Given the description of an element on the screen output the (x, y) to click on. 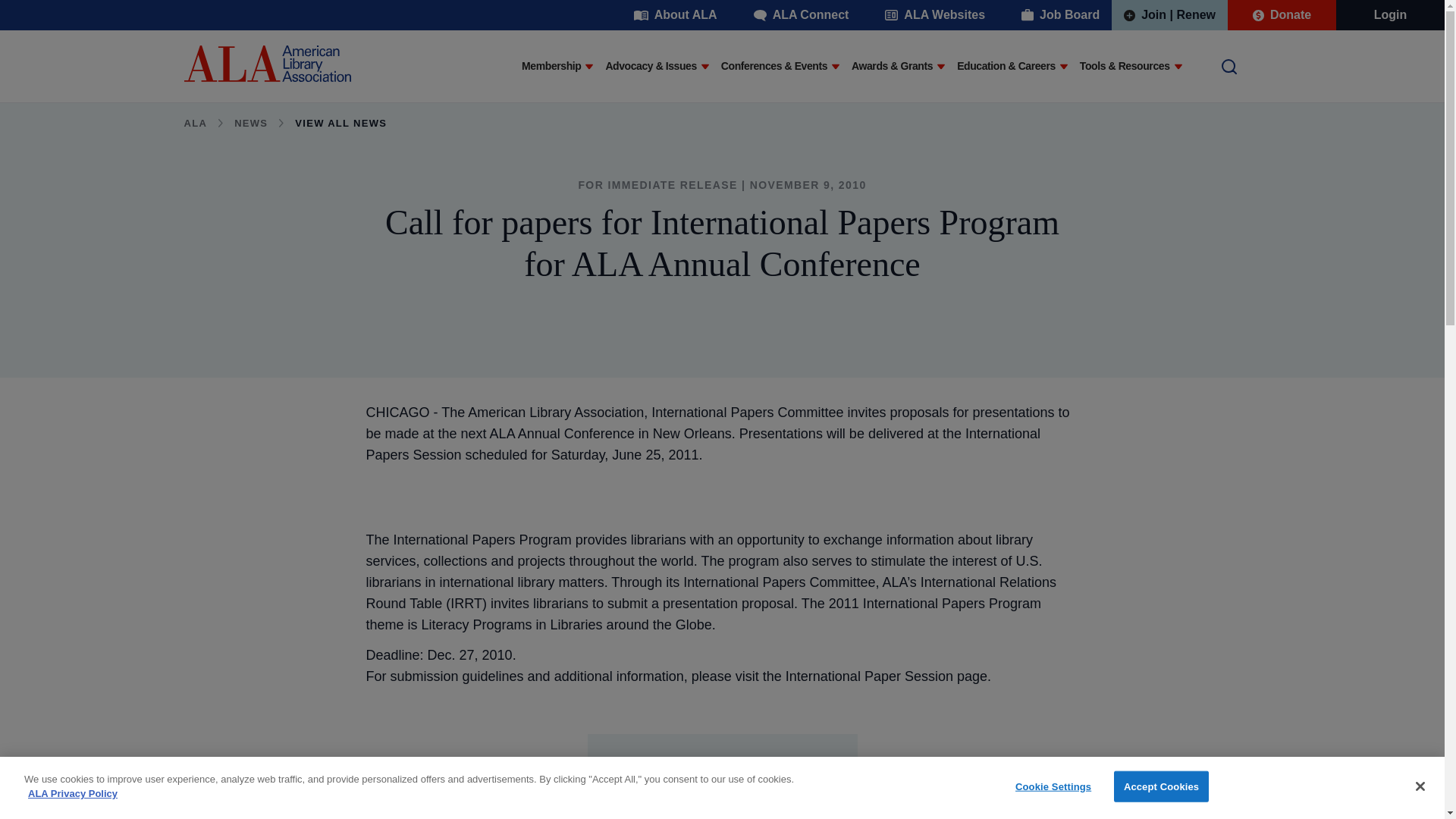
ALA Connect (801, 15)
Donate (1281, 15)
Membership (550, 66)
About ALA (675, 15)
ALA Connect (801, 15)
ALA Websites (934, 15)
Donate (1281, 15)
About ALA (675, 15)
Membership (550, 66)
Job Board (1060, 15)
ALA Websites (934, 15)
Login (1390, 15)
Job Board (1060, 15)
Login (1390, 15)
